Given the description of an element on the screen output the (x, y) to click on. 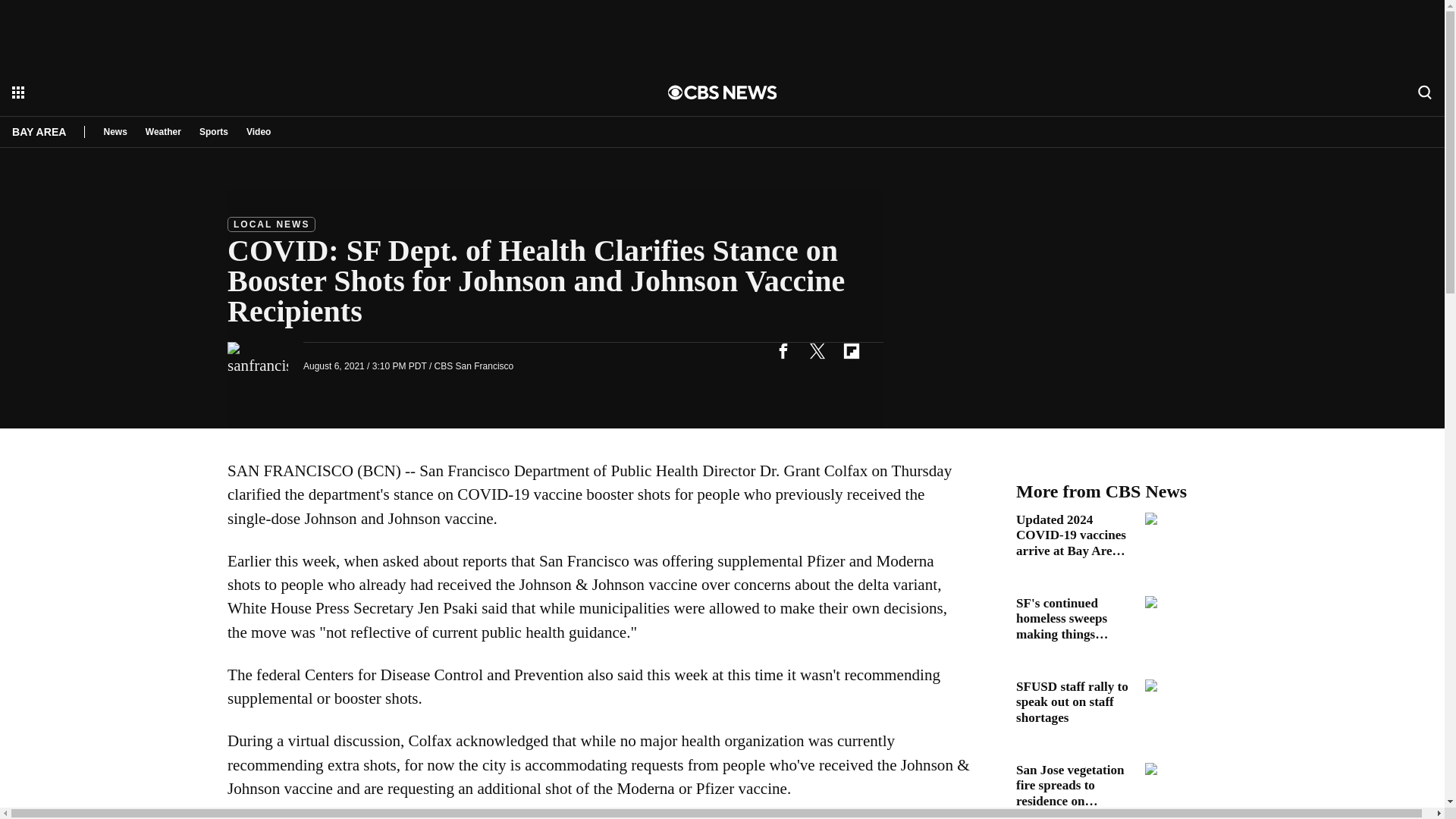
flipboard (850, 350)
twitter (816, 350)
facebook (782, 350)
